Given the description of an element on the screen output the (x, y) to click on. 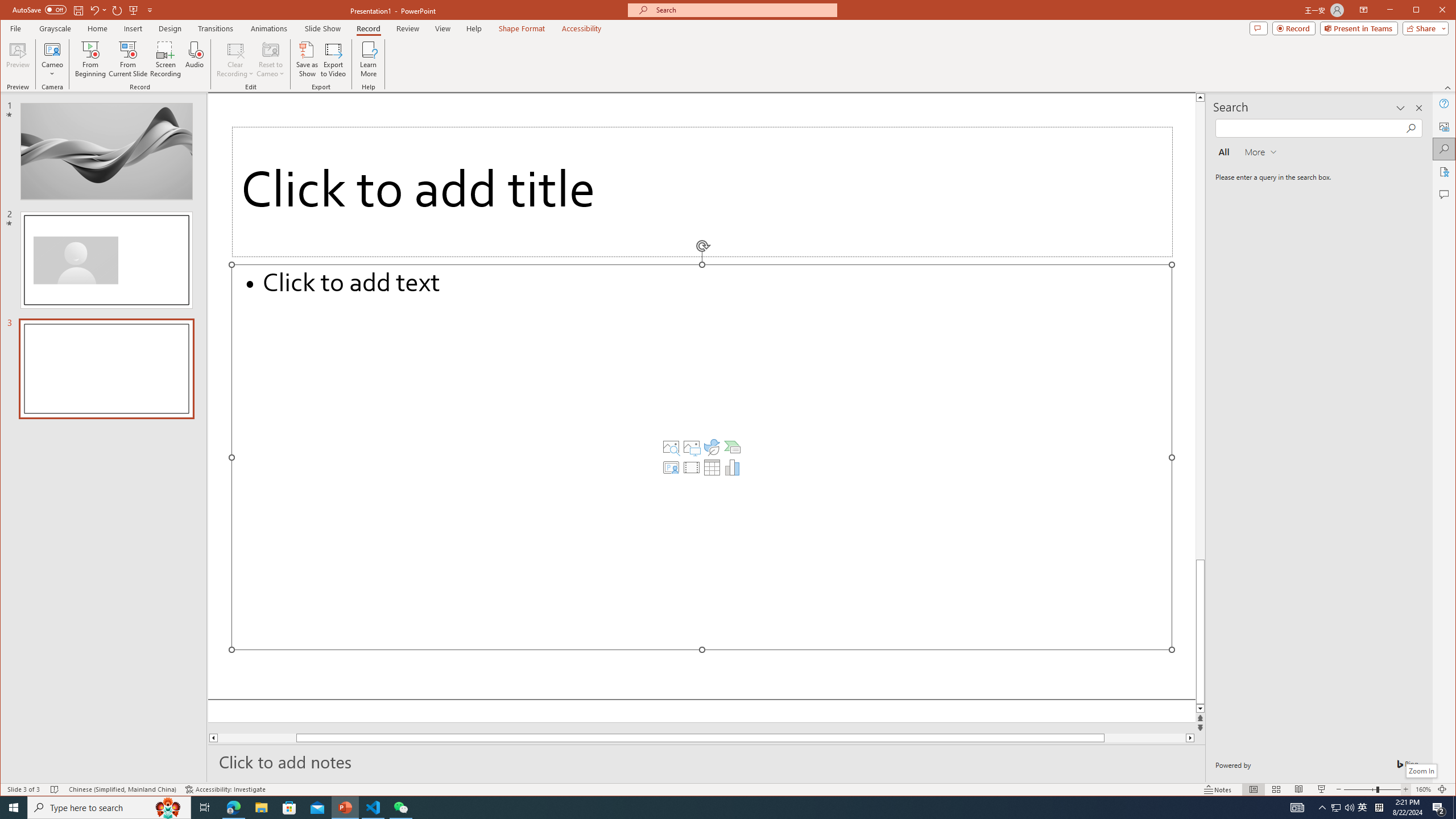
Page up (1200, 302)
Type here to search (108, 807)
Maximize (1432, 11)
Slide (106, 368)
File Explorer (261, 807)
Line down (1200, 709)
AutoSave (38, 9)
Redo (117, 9)
Line up (1200, 96)
Insert Cameo (670, 467)
Running applications (707, 807)
Stock Images (670, 447)
